Given the description of an element on the screen output the (x, y) to click on. 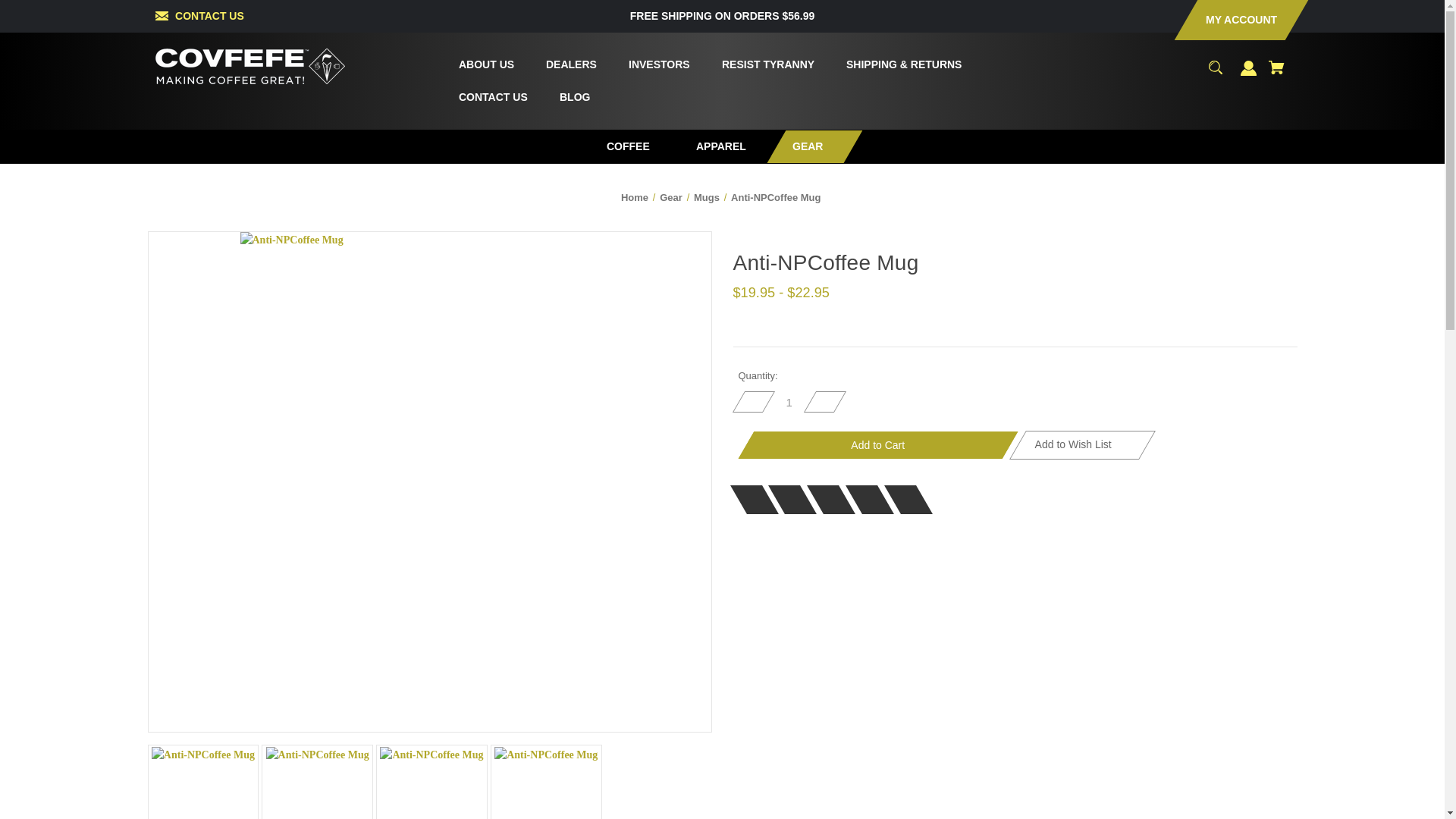
RESIST TYRANNY (758, 64)
BLOG (564, 97)
COVFEFE: Making Coffee Great! (250, 66)
CONTACT US (483, 97)
MAGNIFYING GLASS IMAGE LARGE RED CIRCLE WITH A BLACK BORDER (1215, 67)
INVESTORS (650, 64)
CONTACT US (209, 15)
DEALERS (562, 64)
ABOUT US (477, 64)
MY ACCOUNT (1229, 20)
